Given the description of an element on the screen output the (x, y) to click on. 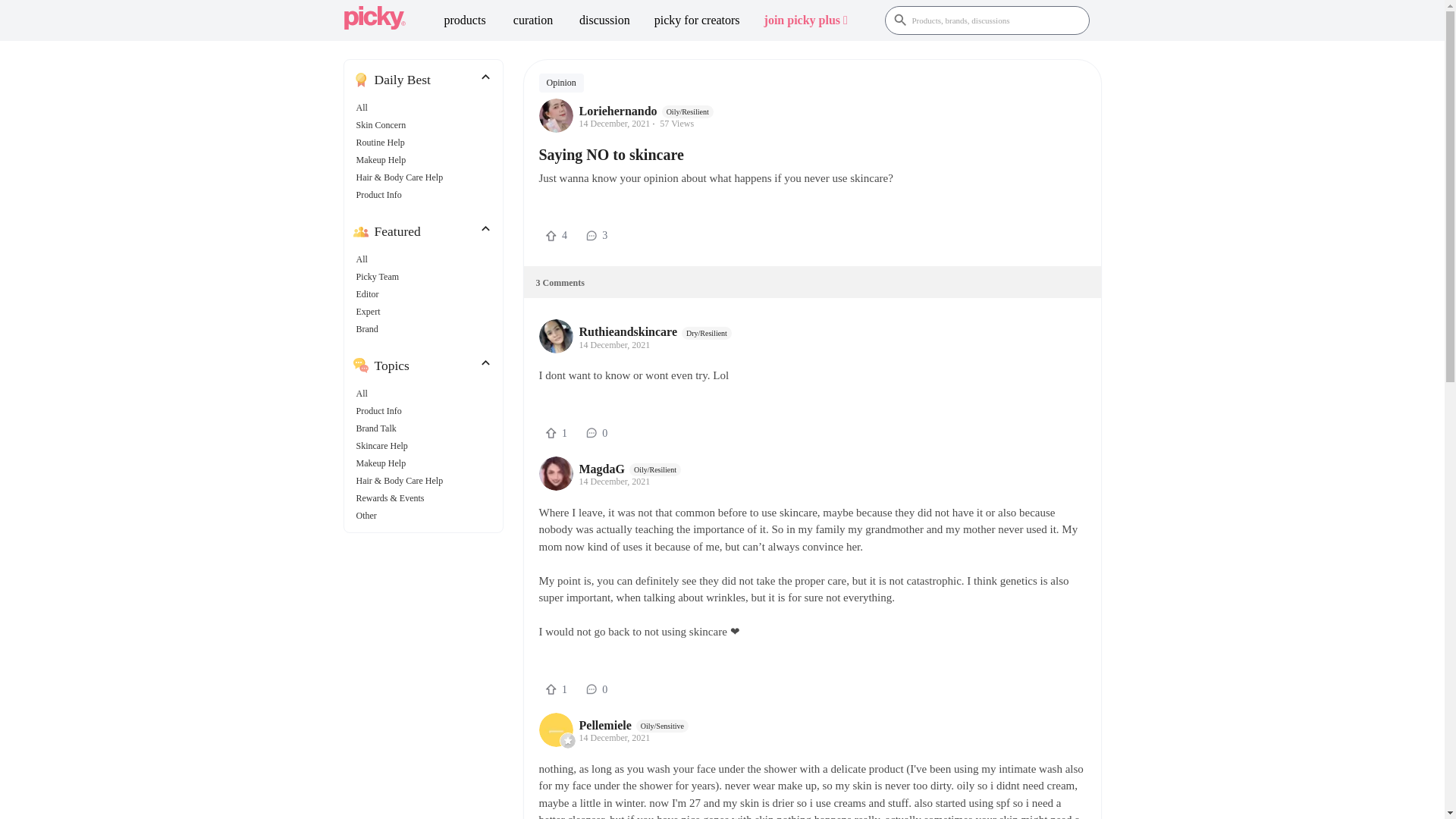
Brand Talk (376, 428)
Editor (426, 294)
Skin Concern (426, 125)
Brand (374, 329)
Editor (374, 294)
products (464, 20)
All (426, 259)
Makeup Help (426, 159)
All (374, 259)
discussion (604, 20)
